Given the description of an element on the screen output the (x, y) to click on. 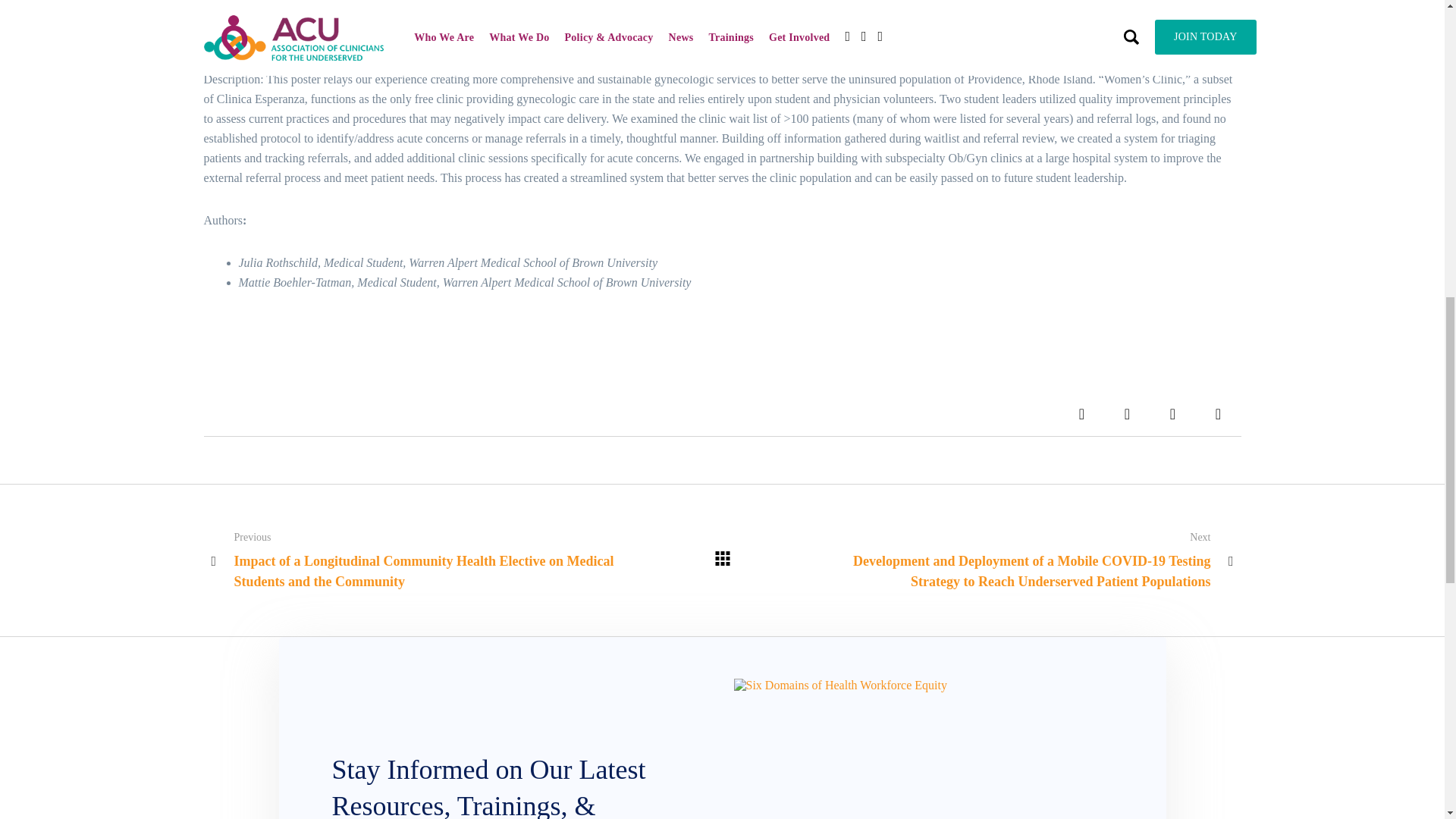
Pin this. (1172, 413)
Tweet this. (1126, 413)
Share this. (1080, 413)
Share this. (1217, 413)
